Given the description of an element on the screen output the (x, y) to click on. 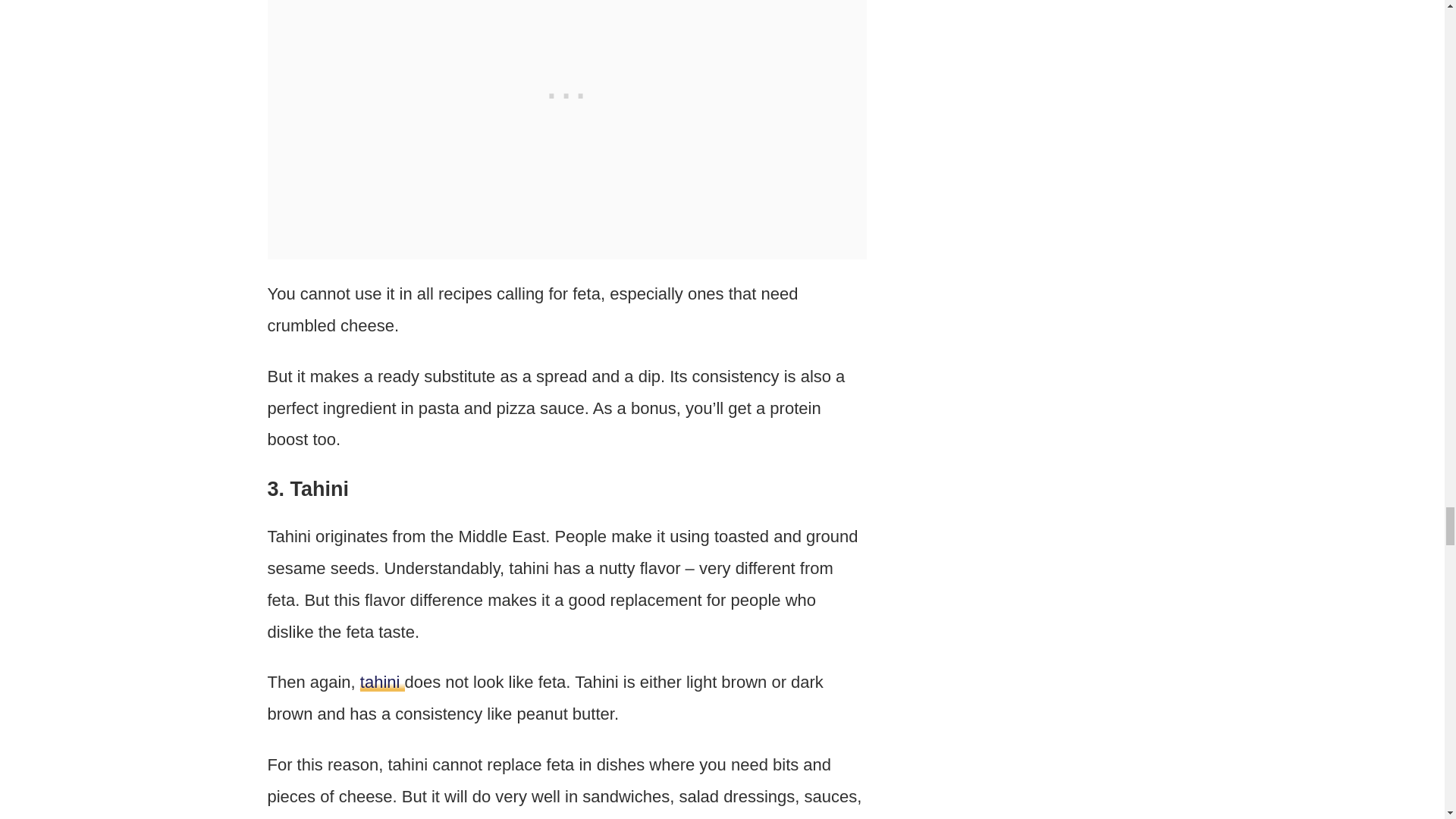
tahini (381, 681)
